Given the description of an element on the screen output the (x, y) to click on. 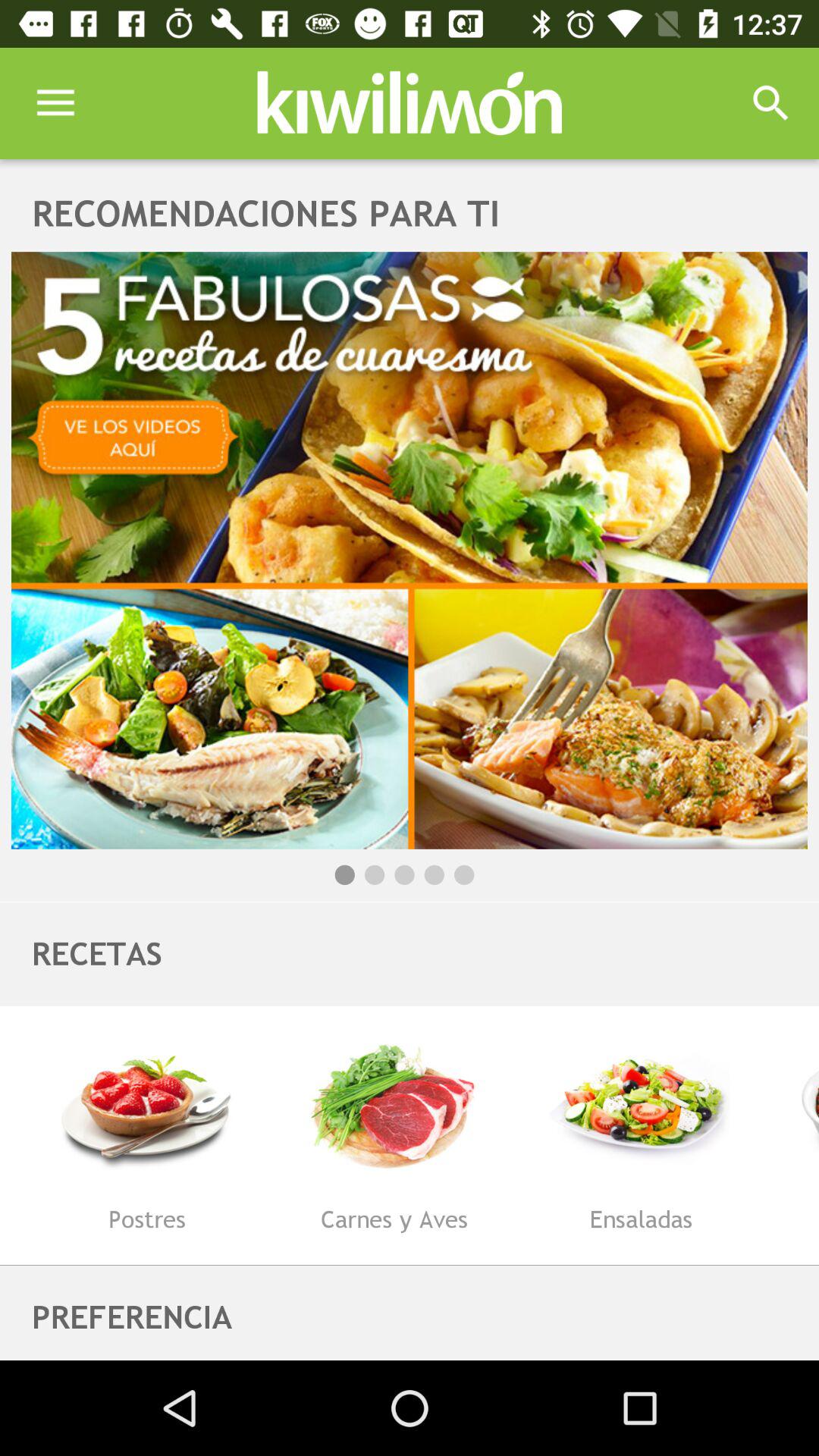
advertisements (409, 550)
